Given the description of an element on the screen output the (x, y) to click on. 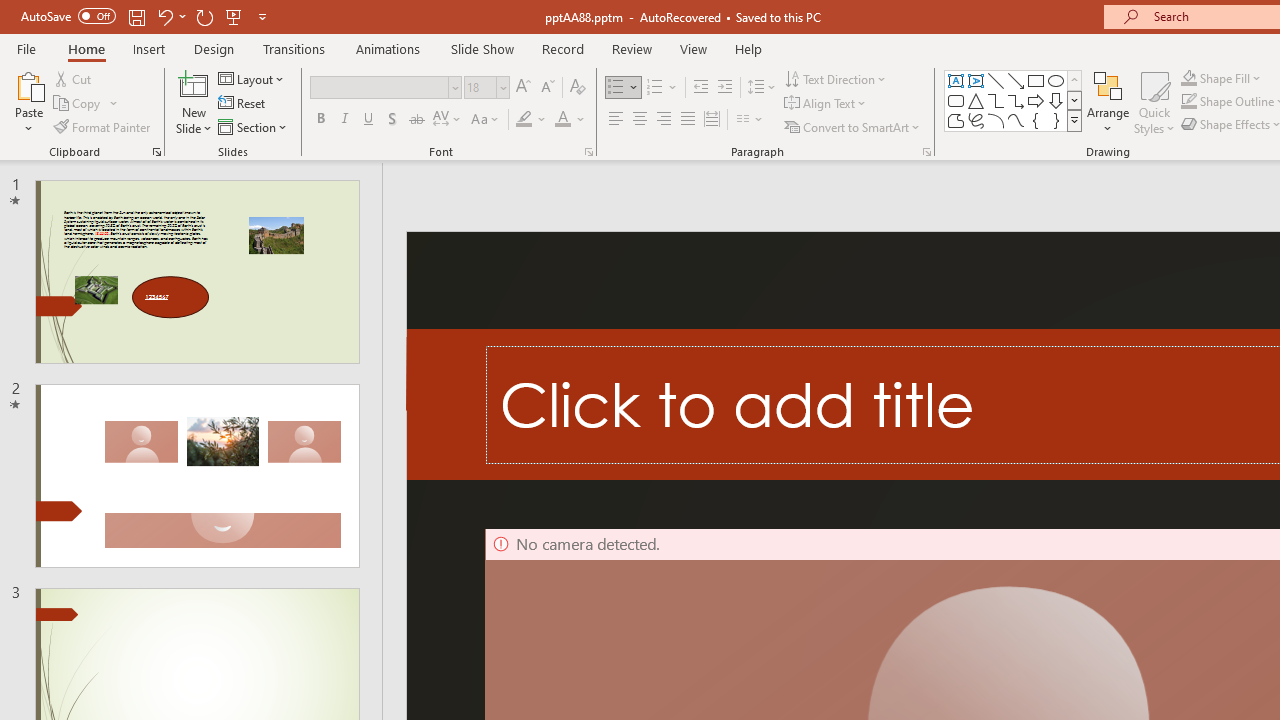
Shape Fill Aqua, Accent 2 (1188, 78)
